Given the description of an element on the screen output the (x, y) to click on. 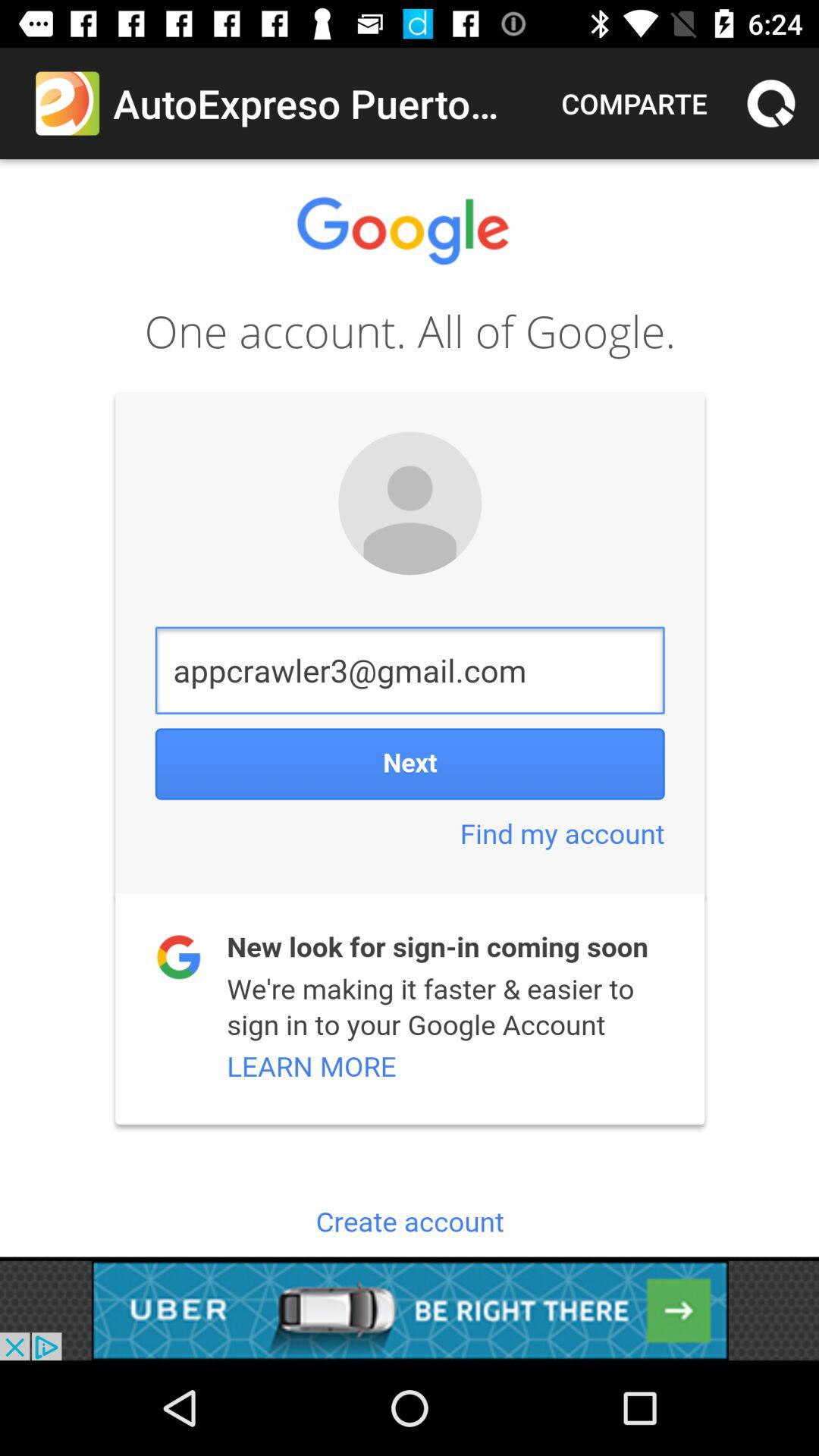
google account area (409, 707)
